Given the description of an element on the screen output the (x, y) to click on. 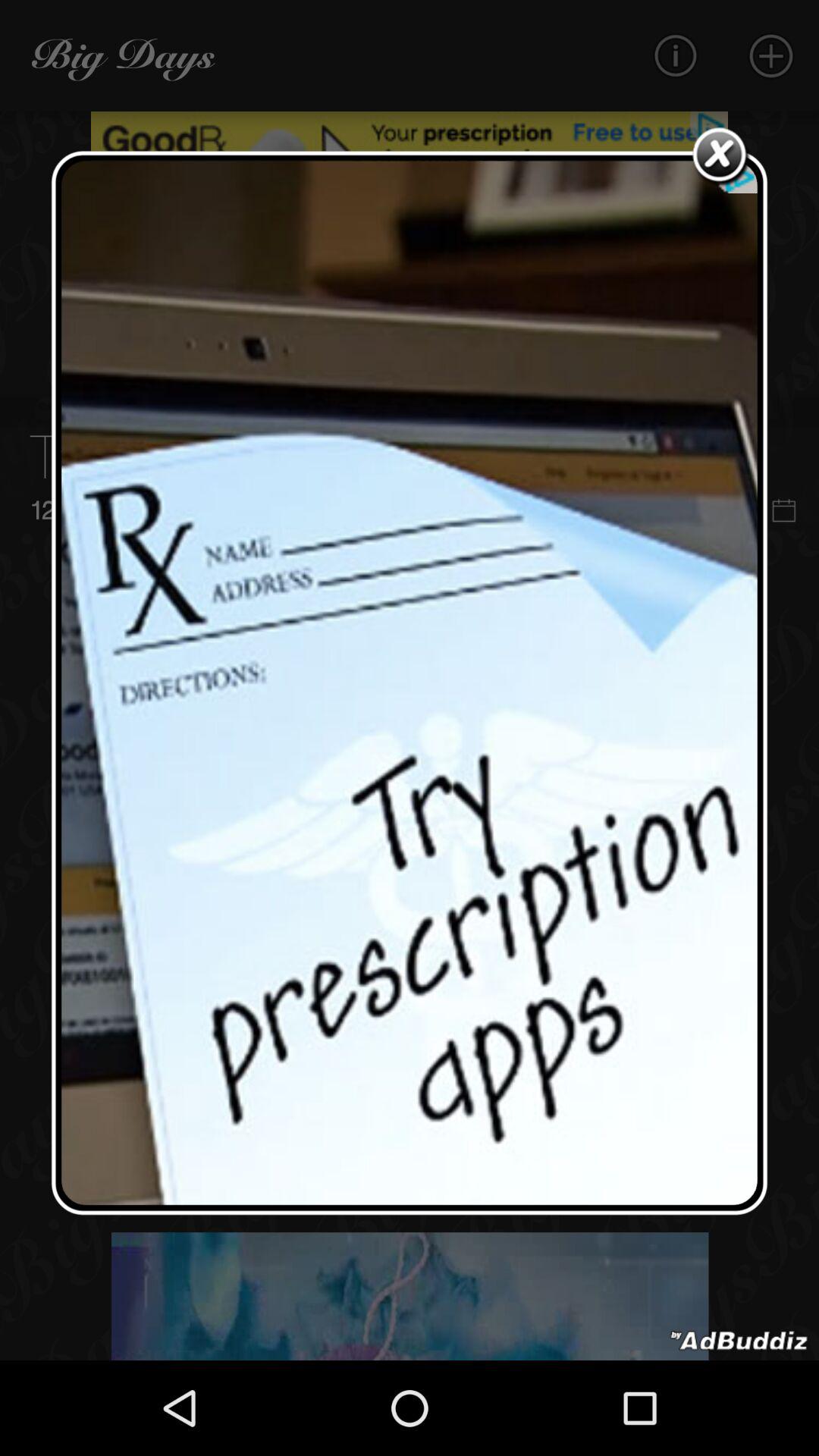
advertisement (739, 1340)
